Given the description of an element on the screen output the (x, y) to click on. 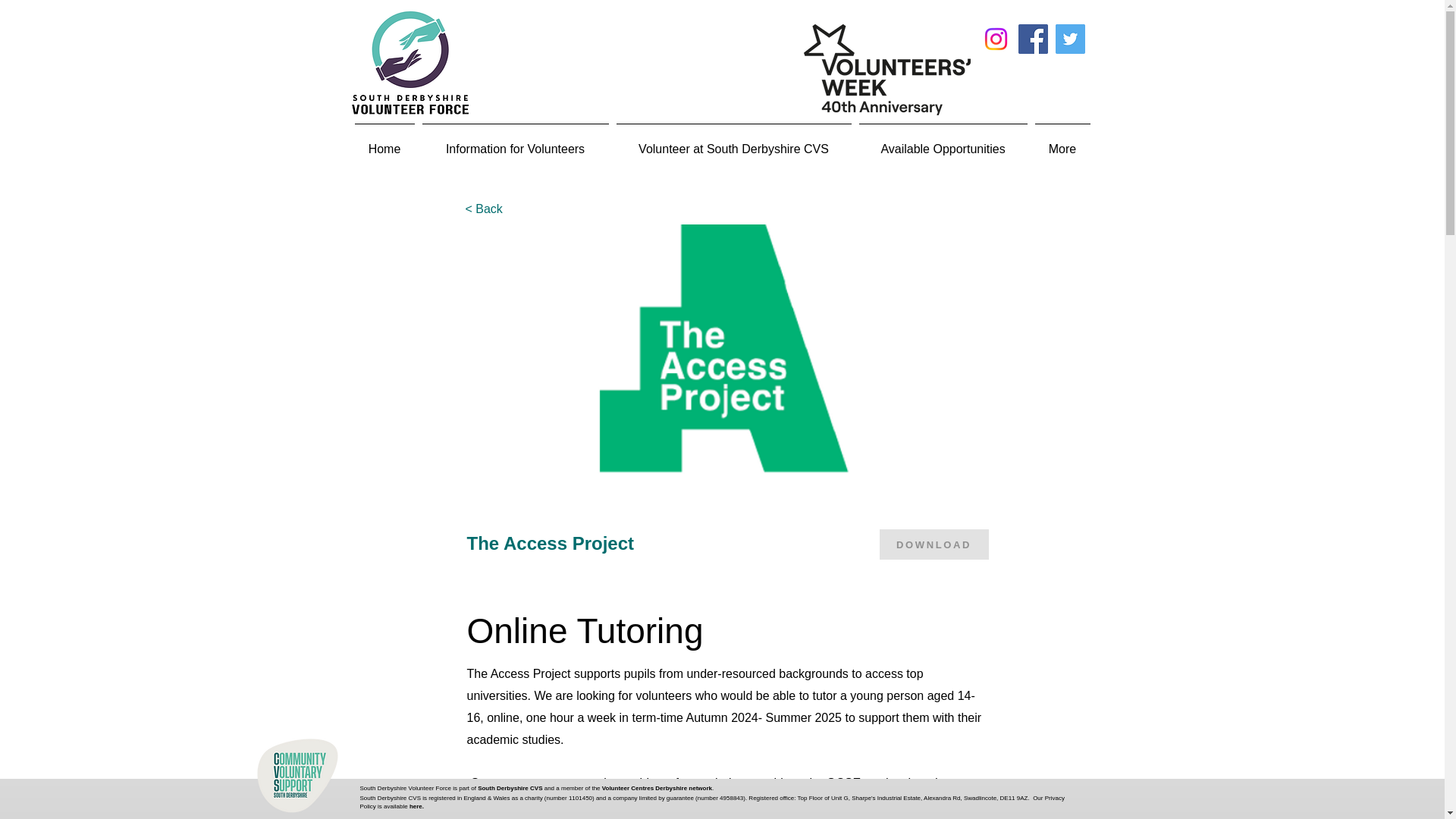
South Derbyshire CVS (509, 787)
Home (383, 142)
here. (416, 805)
Information for Volunteers (515, 142)
Available Opportunities (943, 142)
DOWNLOAD (933, 544)
Volunteer at South Derbyshire CVS (734, 142)
